Given the description of an element on the screen output the (x, y) to click on. 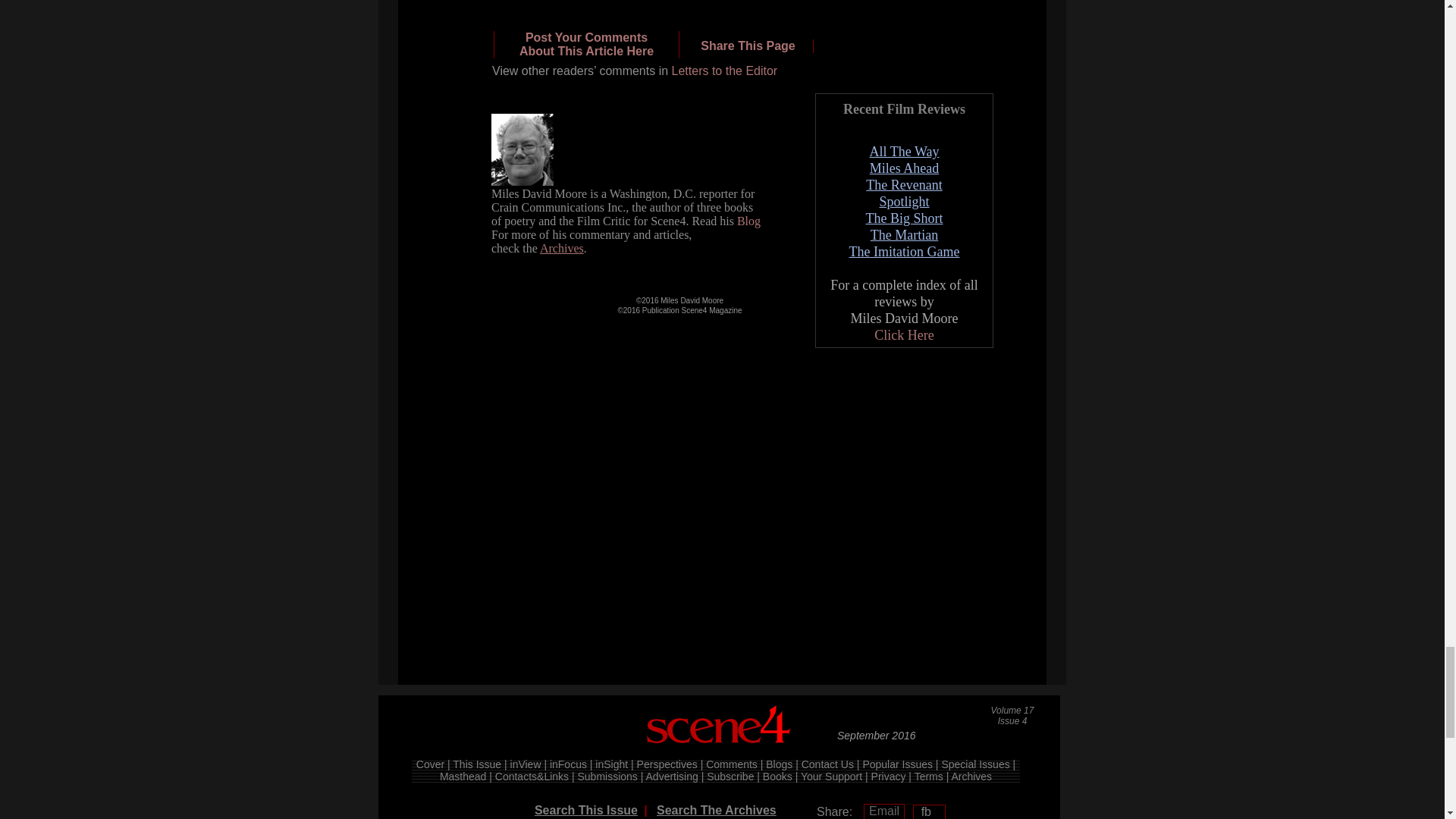
All The Way (904, 151)
Click Here (904, 335)
Search The Archives (716, 809)
Archives (561, 247)
Blog (748, 220)
Spotlight (903, 201)
The Imitation Game (903, 251)
Share This Page (747, 46)
The Revenant (586, 44)
